Given the description of an element on the screen output the (x, y) to click on. 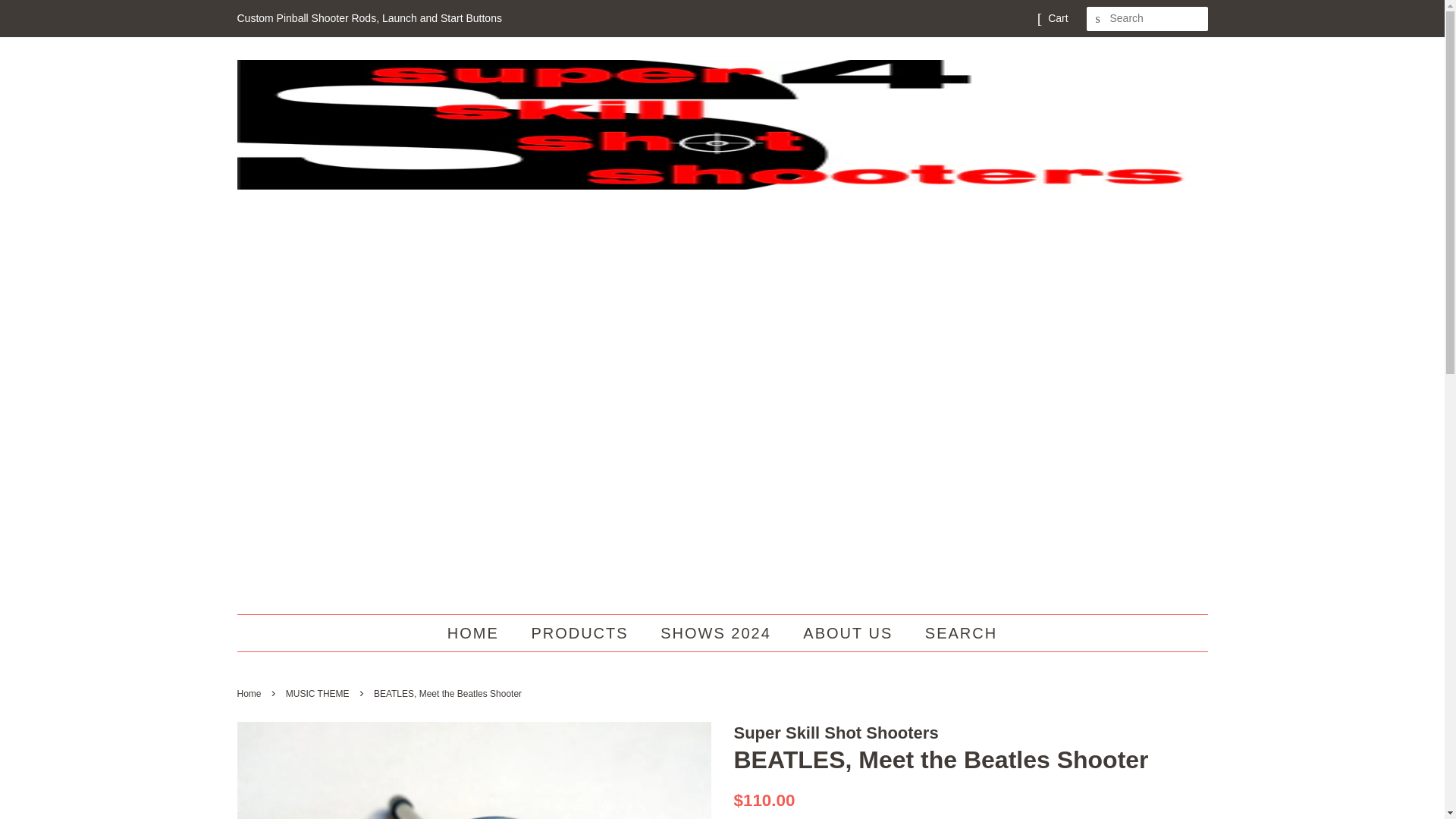
HOME (479, 633)
ABOUT US (849, 633)
Home (249, 693)
Back to the frontpage (249, 693)
PRODUCTS (581, 633)
SEARCH (955, 633)
SEARCH (1097, 18)
Cart (1057, 18)
MUSIC THEME (319, 693)
SHOWS 2024 (717, 633)
